Given the description of an element on the screen output the (x, y) to click on. 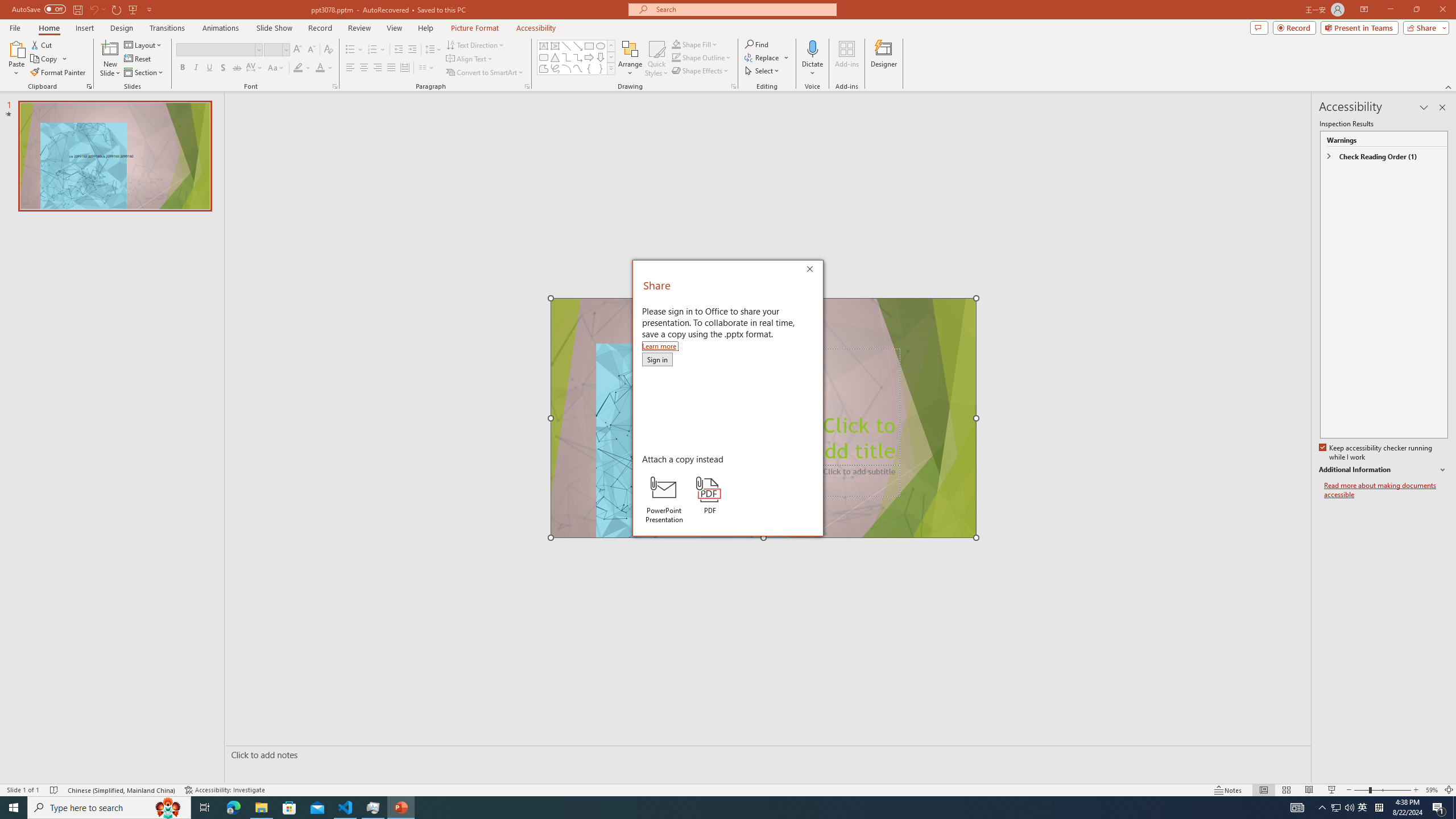
File Explorer - 1 running window (261, 807)
Shape Fill Dark Green, Accent 2 (675, 44)
Picture Format (475, 28)
Additional Information (1383, 469)
